Given the description of an element on the screen output the (x, y) to click on. 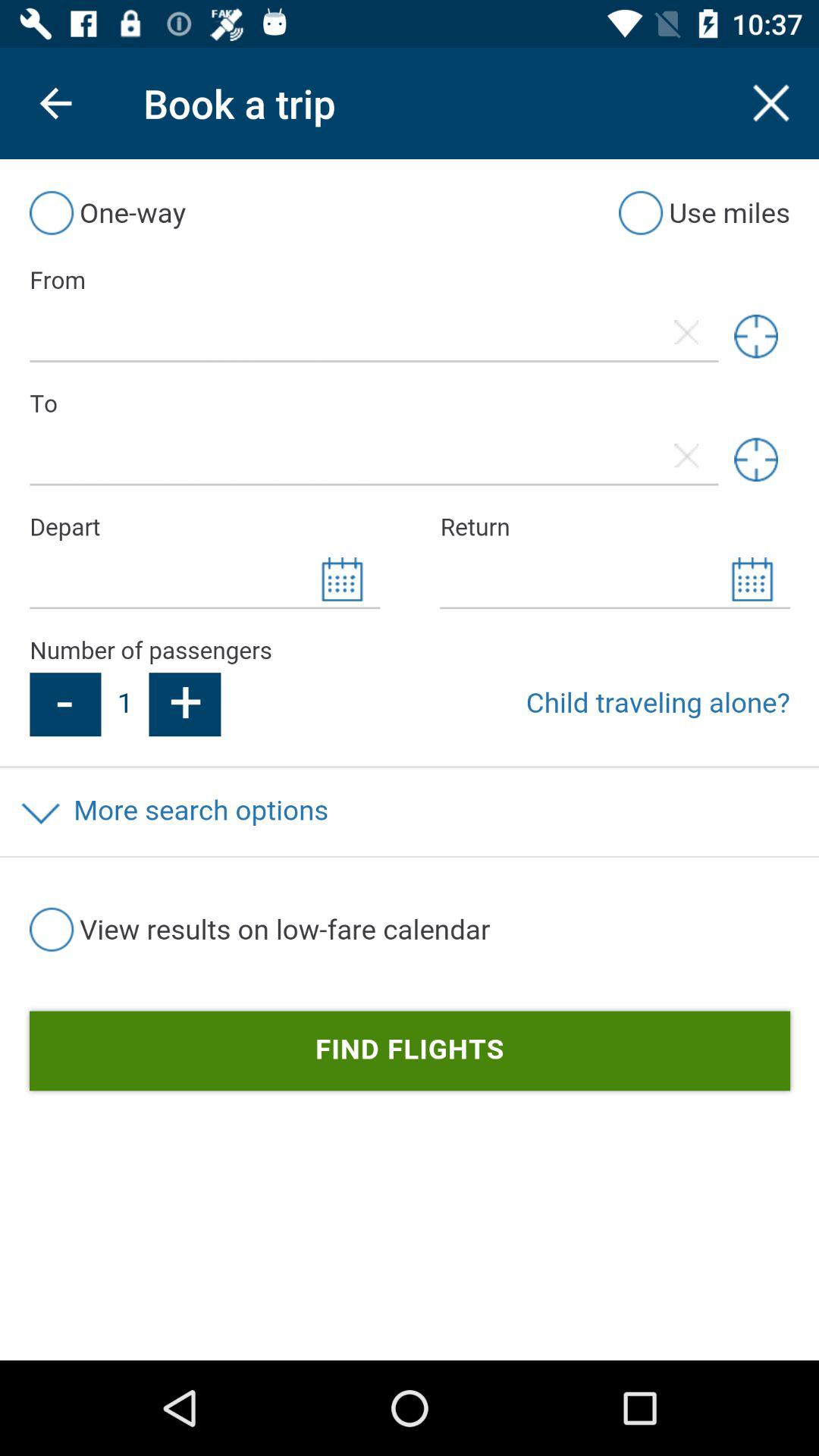
user interface (409, 759)
